Given the description of an element on the screen output the (x, y) to click on. 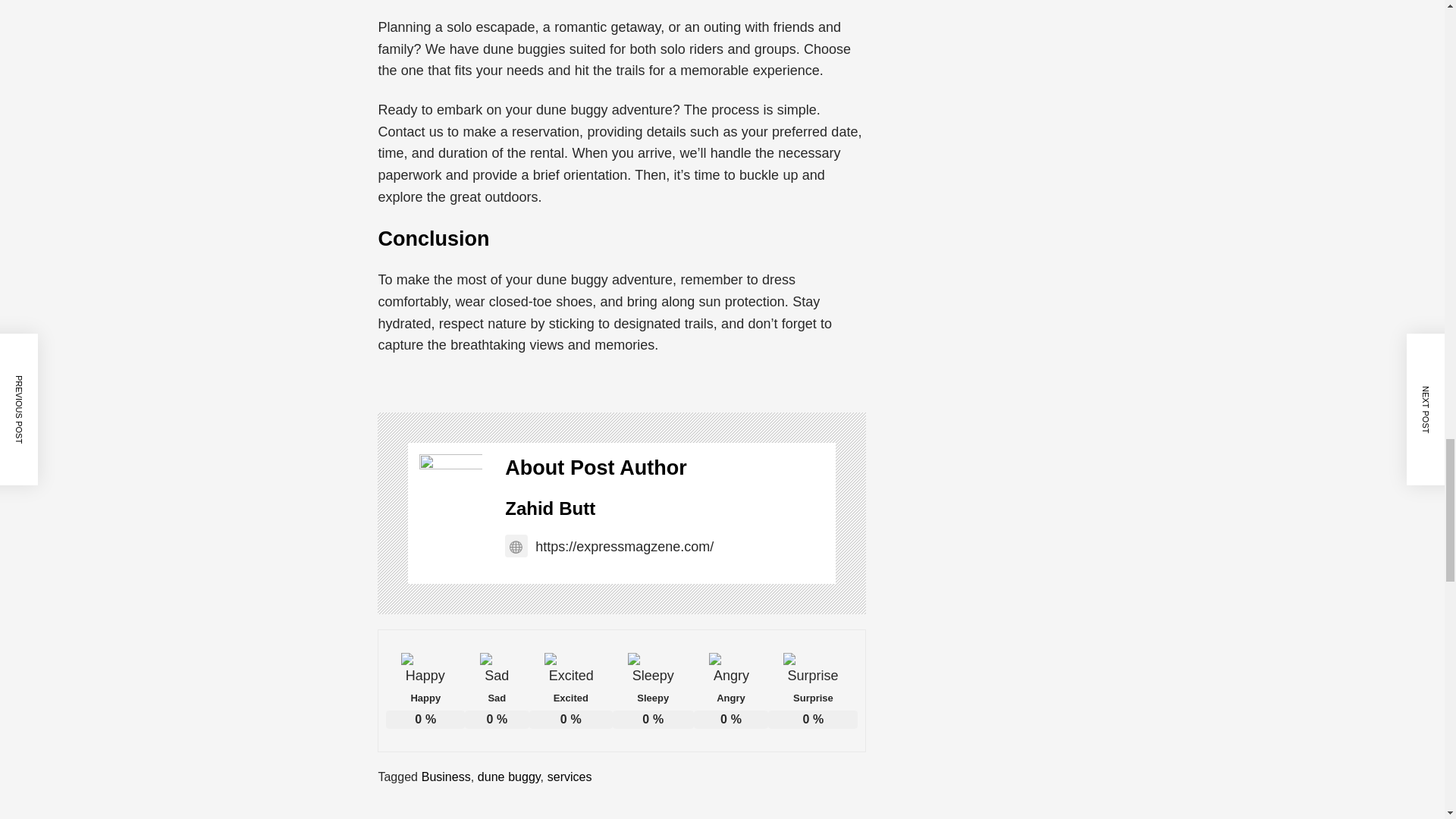
Zahid Butt (550, 507)
services (569, 776)
Business (446, 776)
dune buggy (508, 776)
